Given the description of an element on the screen output the (x, y) to click on. 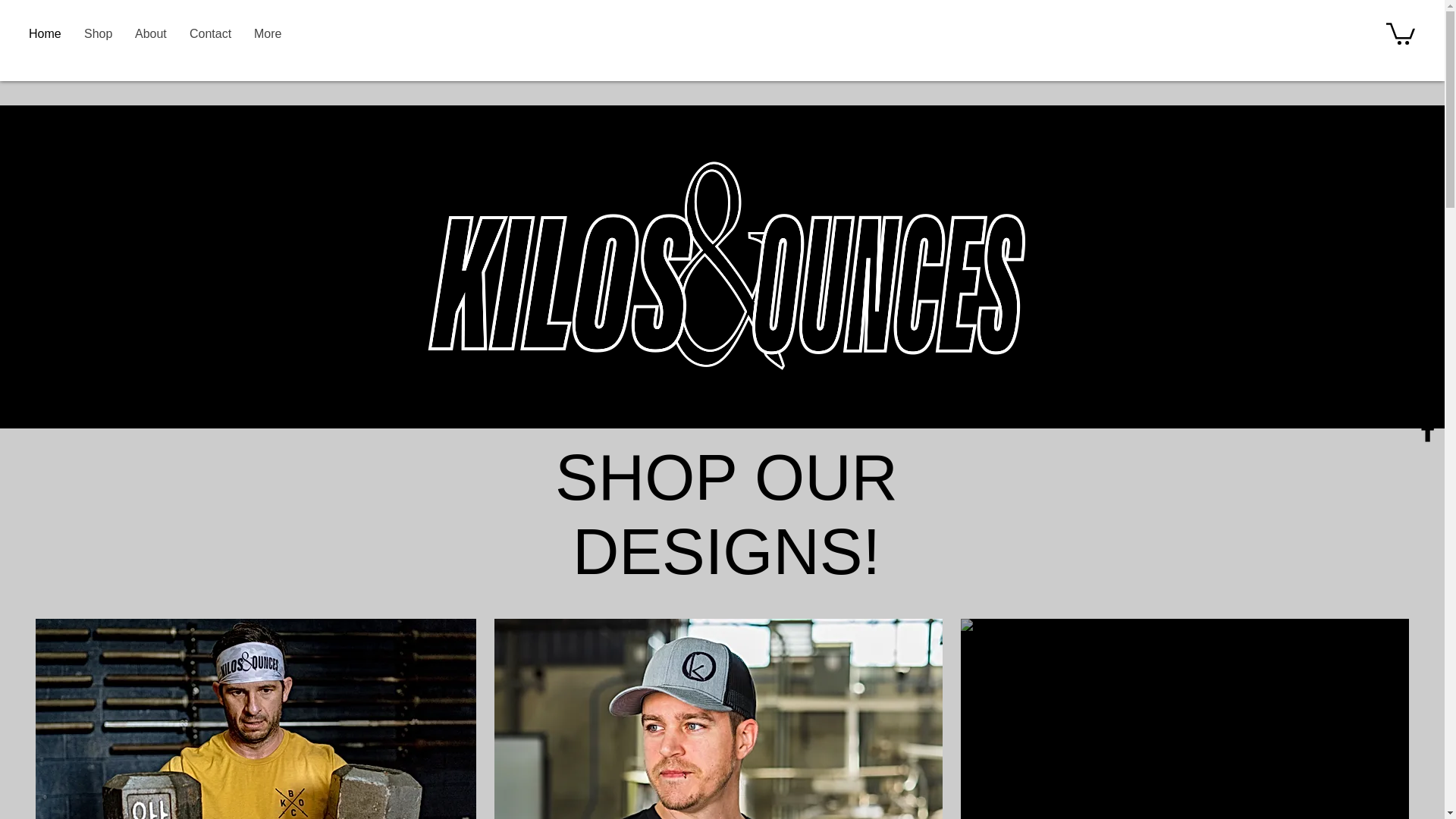
Contact (210, 34)
Home (44, 34)
Shop (97, 34)
About (150, 34)
